Given the description of an element on the screen output the (x, y) to click on. 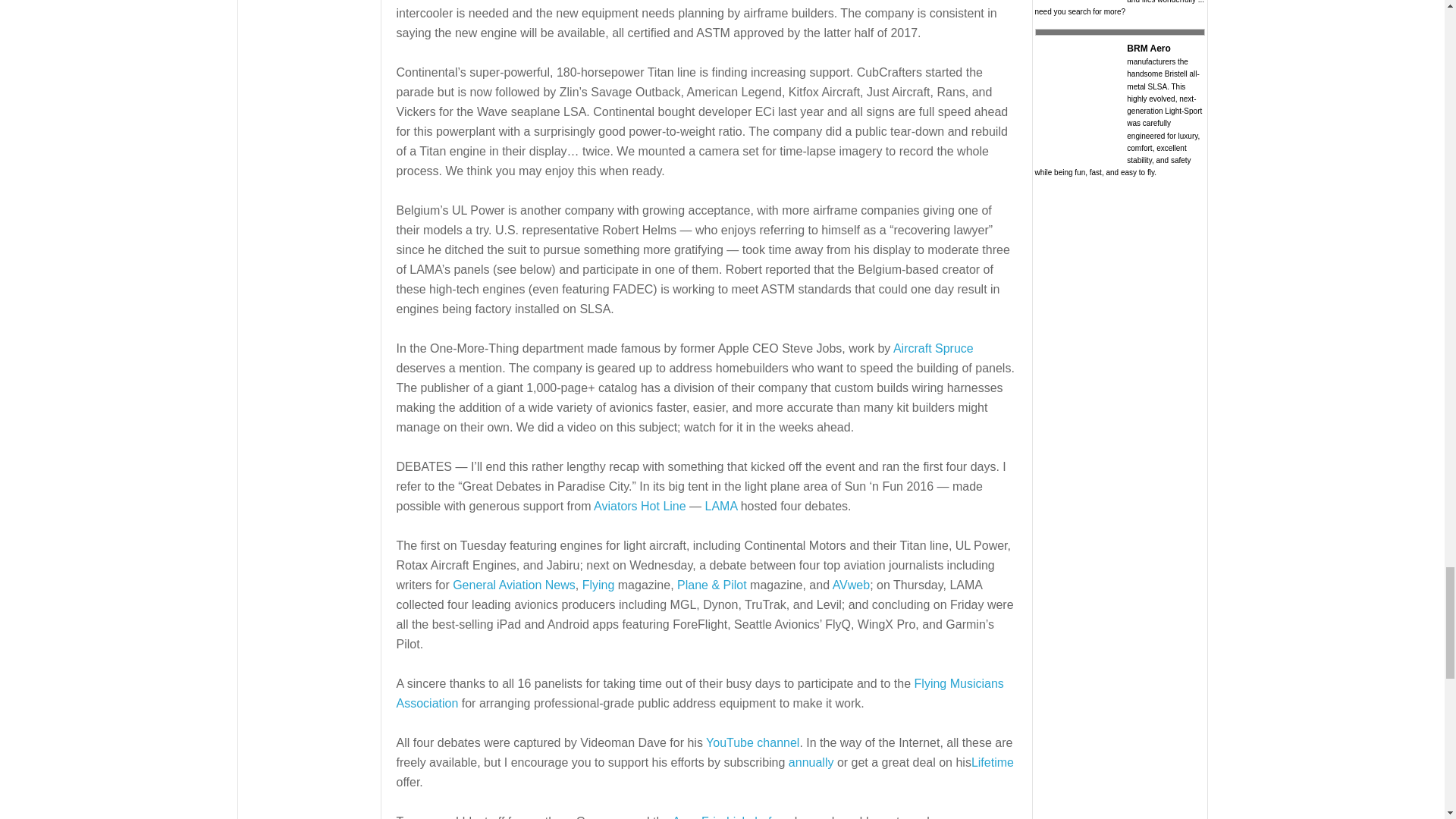
General Aviation News (513, 584)
Flying Musicians Association (699, 693)
AVweb (851, 584)
Aero Friedrichshafen (729, 816)
annually (811, 762)
LAMA (721, 505)
Flying (598, 584)
Aviators Hot Line (639, 505)
YouTube channel (752, 742)
Lifetime (992, 762)
